Given the description of an element on the screen output the (x, y) to click on. 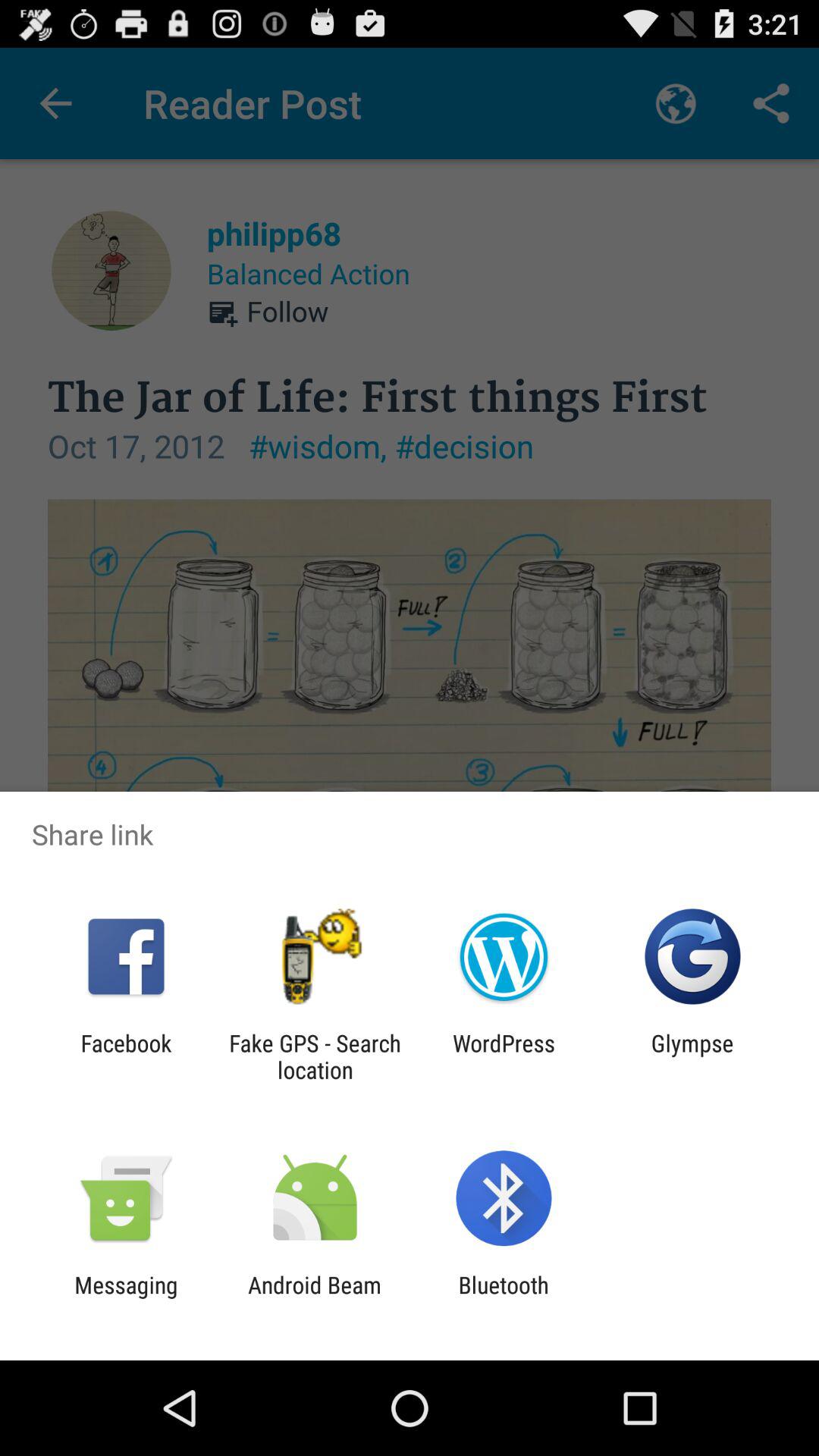
turn on item to the right of the wordpress (692, 1056)
